Given the description of an element on the screen output the (x, y) to click on. 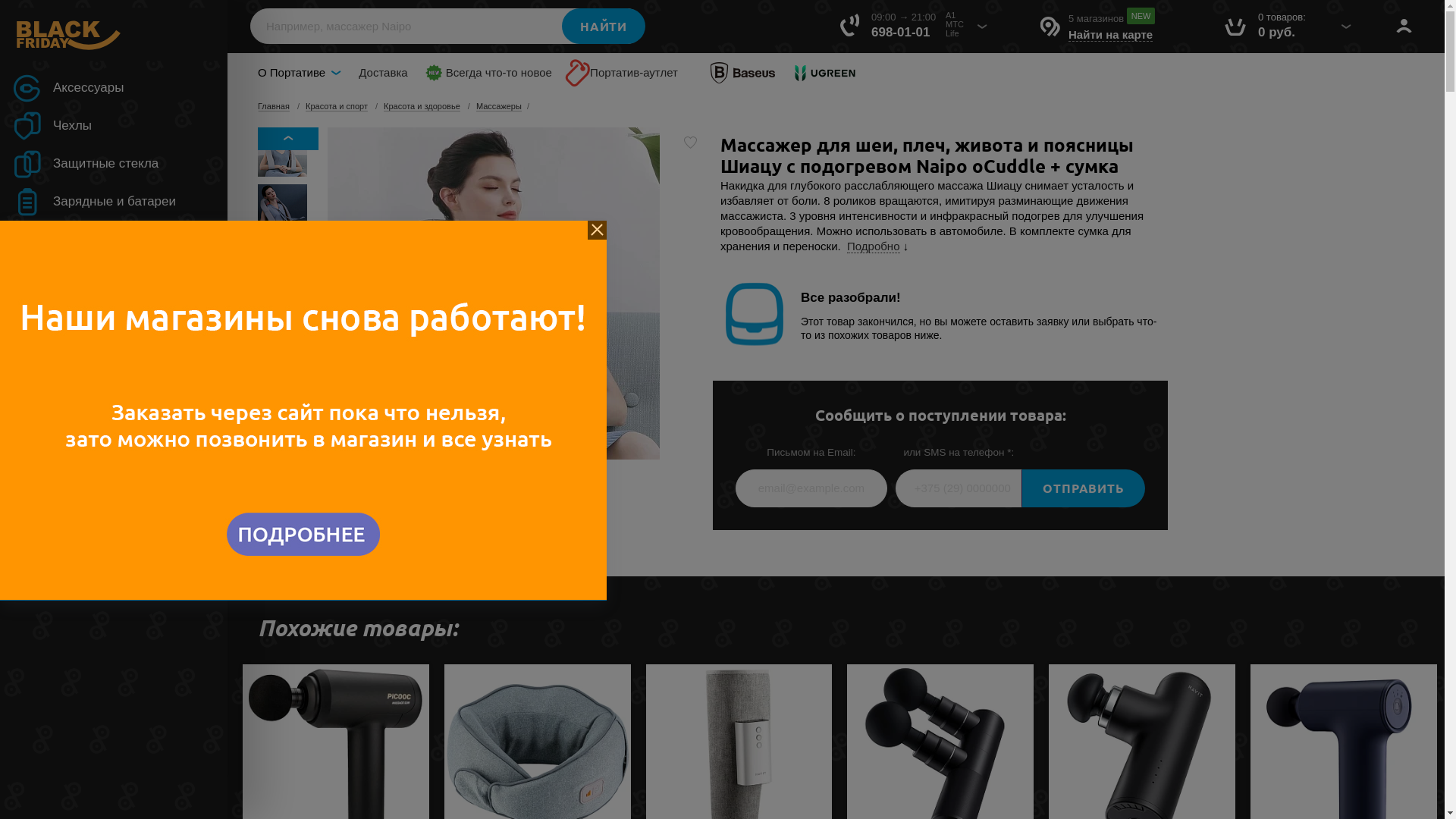
Portative.by Element type: text (113, 33)
Baseus Element type: text (742, 72)
Ugreen Element type: text (825, 72)
next Element type: text (287, 447)
prev Element type: text (287, 138)
  Element type: text (690, 141)
